Given the description of an element on the screen output the (x, y) to click on. 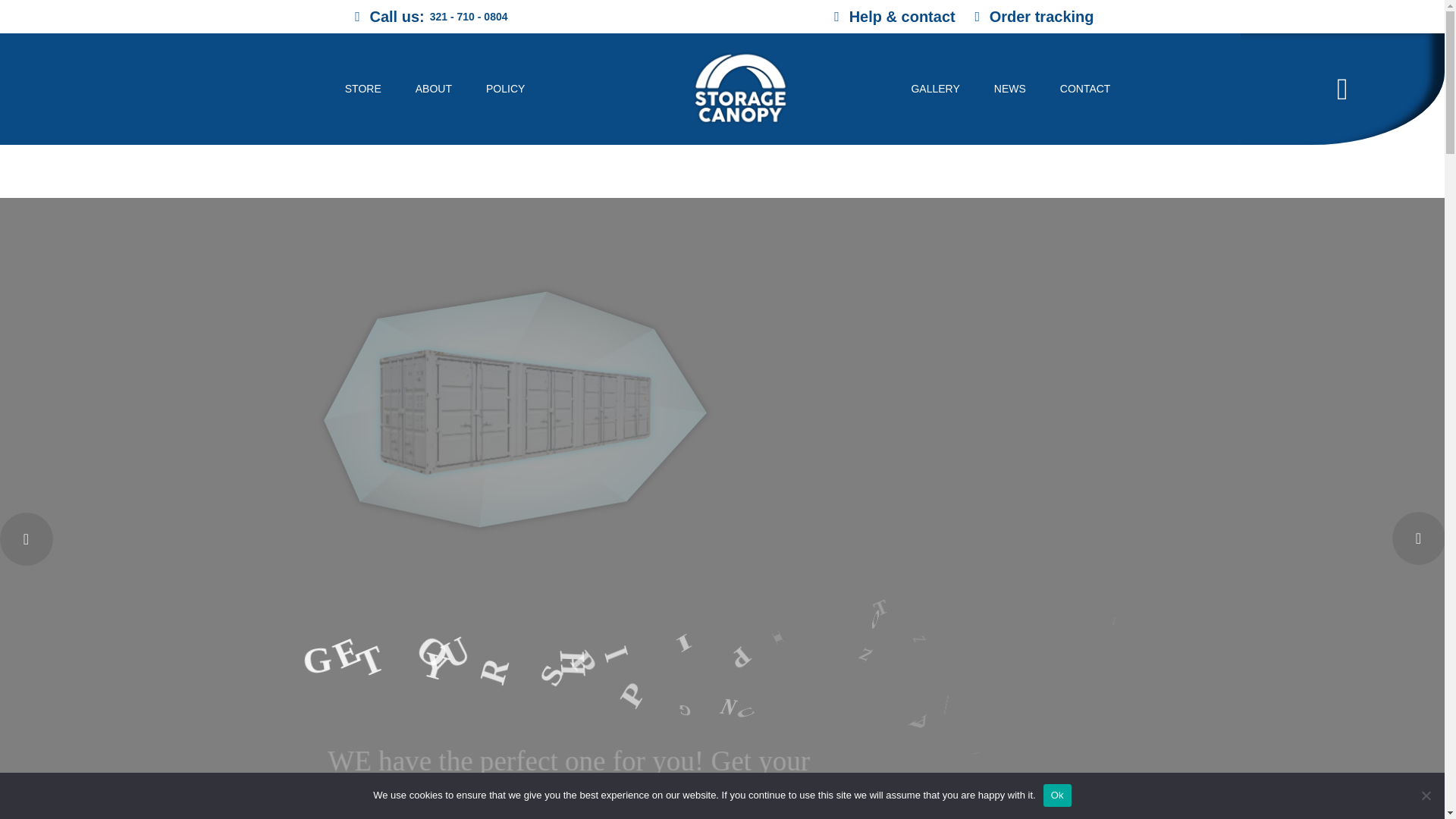
No (1425, 795)
CONTACT (1092, 88)
NEWS (1017, 88)
POLICY (513, 88)
Call us: (386, 15)
Order tracking (1032, 15)
STORE (370, 88)
ABOUT (440, 88)
GALLERY (942, 88)
